Given the description of an element on the screen output the (x, y) to click on. 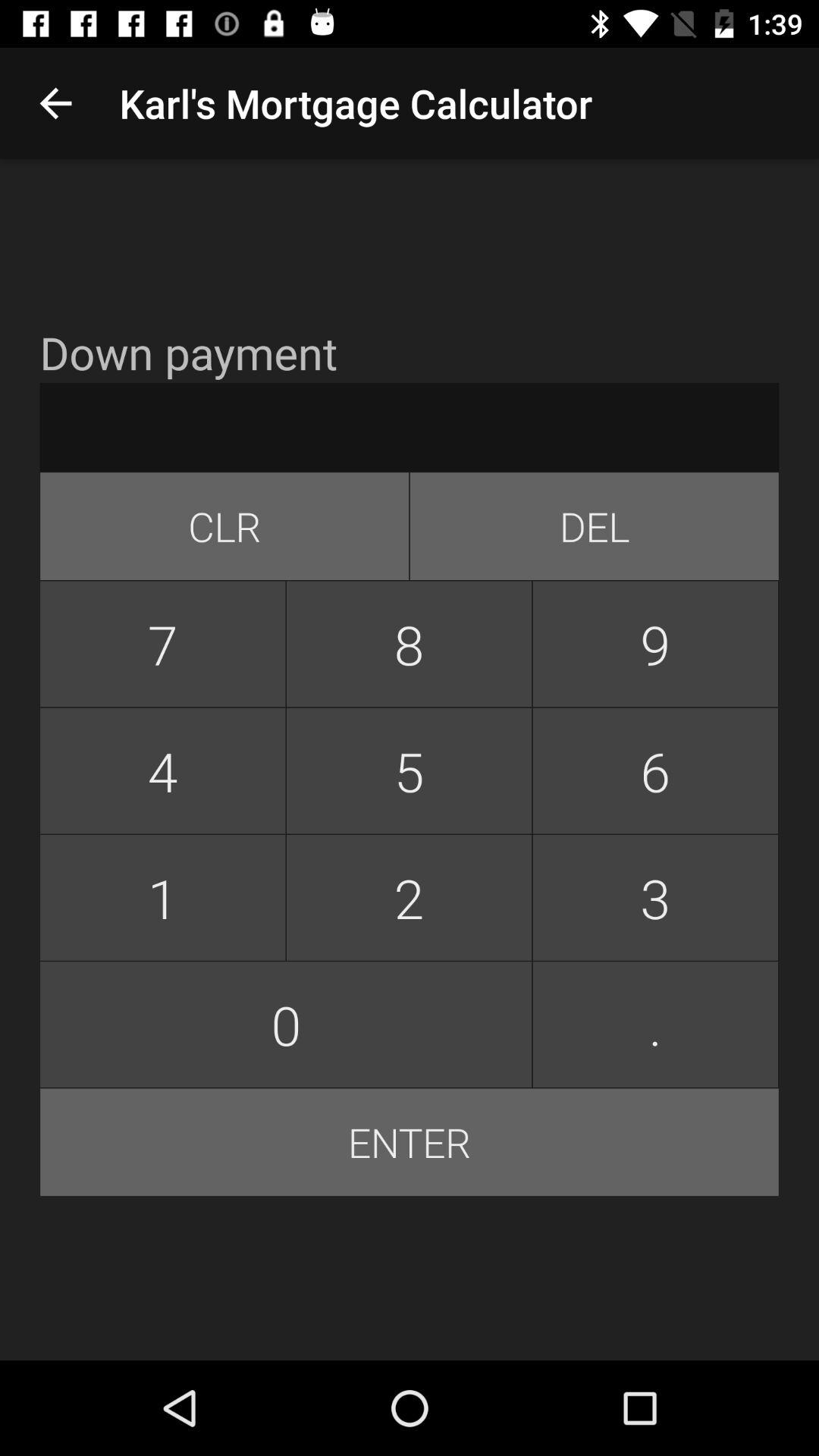
launch icon above the 2 item (655, 770)
